Given the description of an element on the screen output the (x, y) to click on. 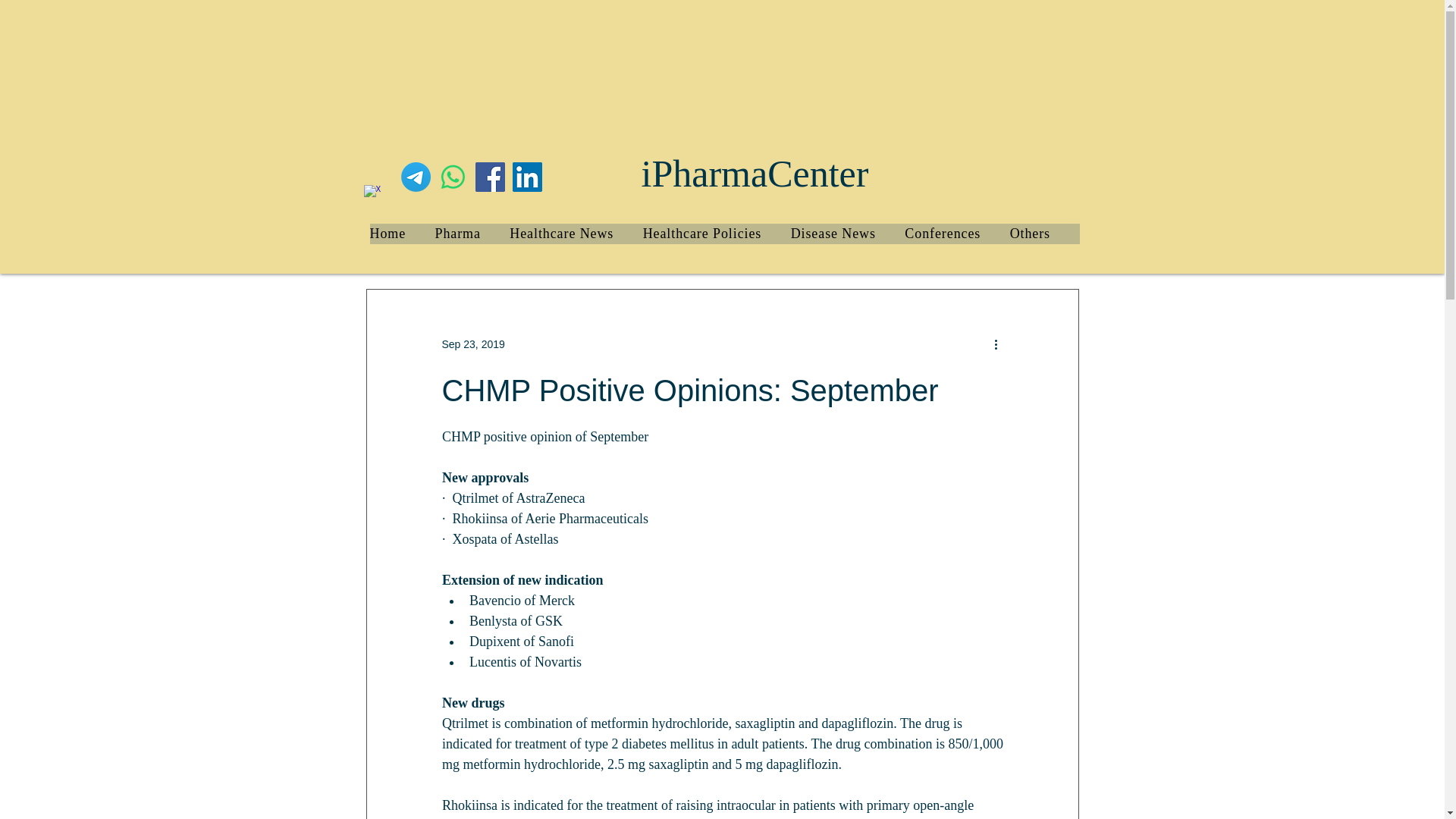
Conferences (956, 233)
Home (402, 233)
Healthcare Policies (716, 233)
Sep 23, 2019 (472, 344)
